Given the description of an element on the screen output the (x, y) to click on. 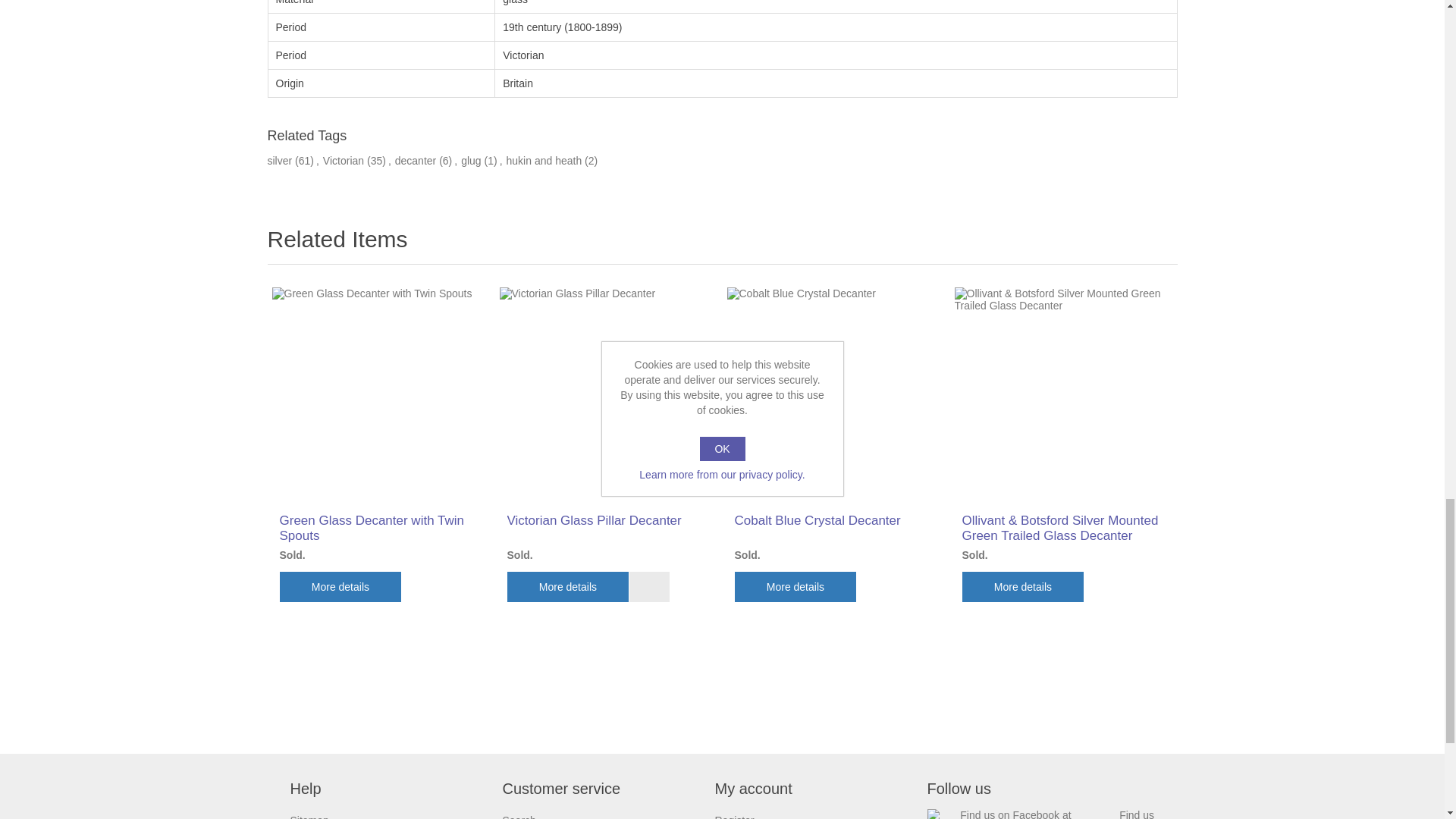
Add to wish list (648, 586)
More details (1021, 586)
More details (340, 586)
More details (567, 586)
More details (794, 586)
